Given the description of an element on the screen output the (x, y) to click on. 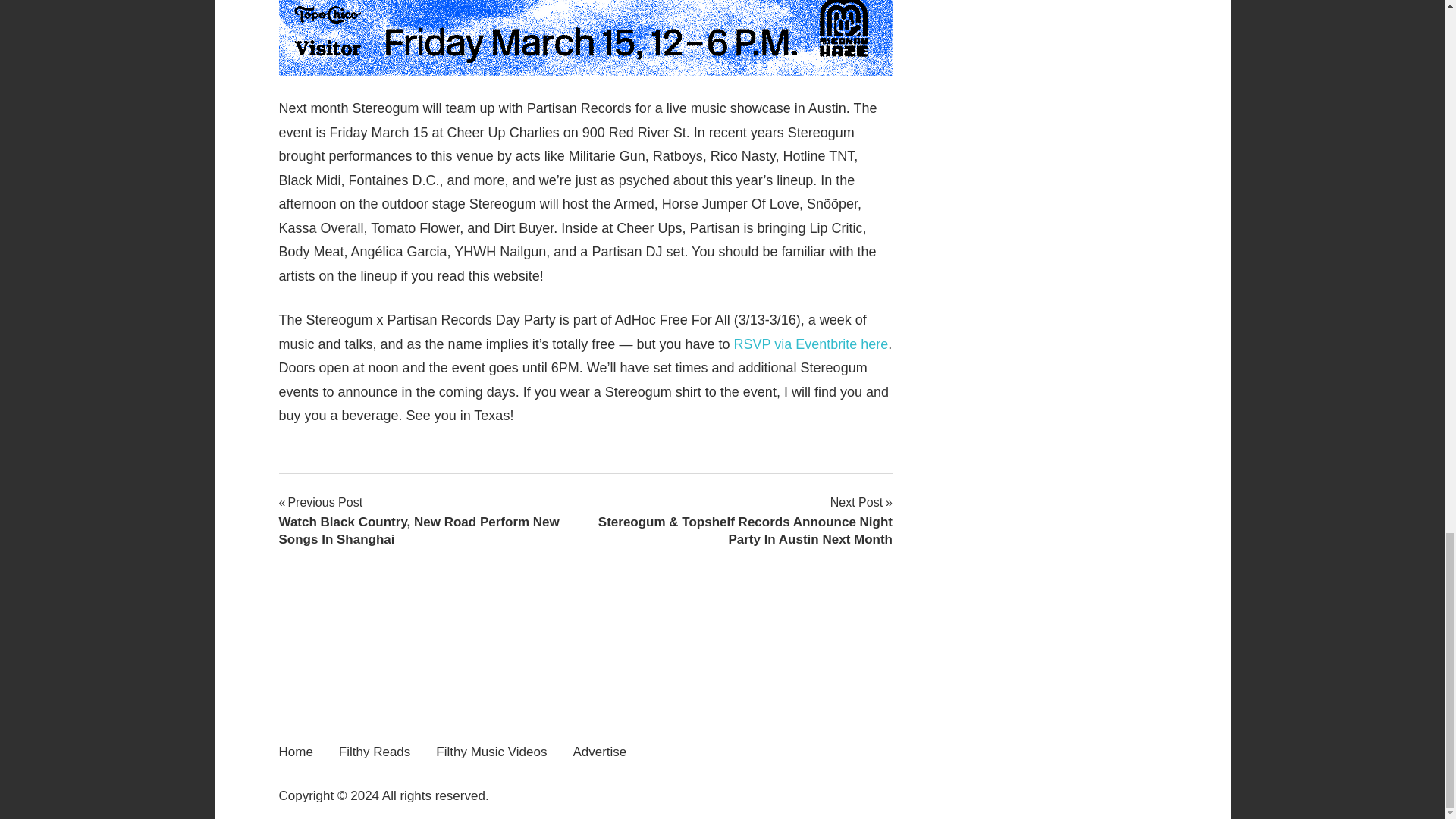
Filthy Music Videos (496, 751)
Advertise (604, 751)
RSVP via Eventbrite here (810, 344)
Home (301, 751)
Advertisement (721, 694)
Filthy Reads (379, 751)
Advertisement (1054, 411)
